Given the description of an element on the screen output the (x, y) to click on. 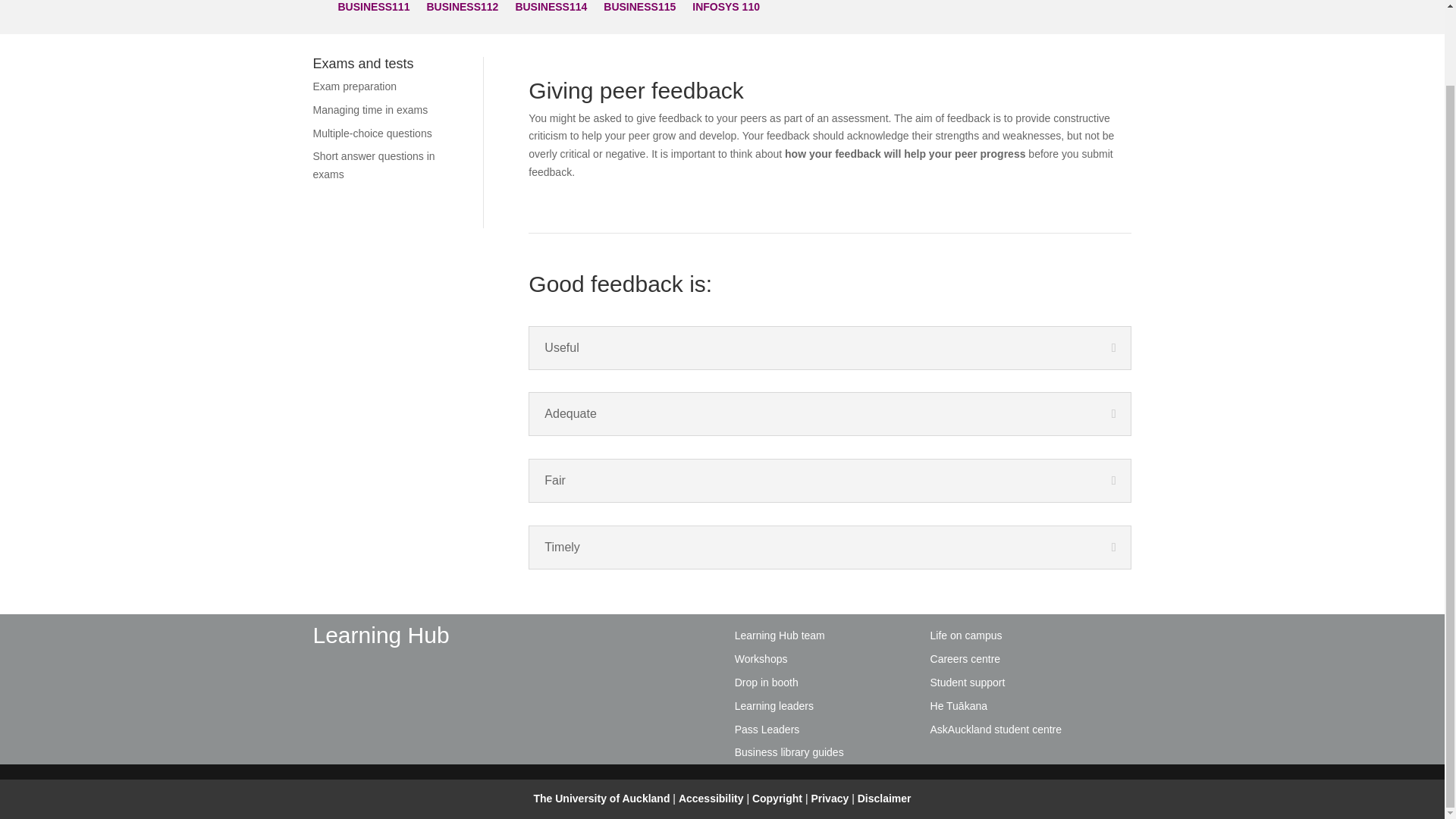
Careers centre (965, 658)
Life on campus (966, 635)
Student Support (968, 682)
AskAuckland student centre (996, 729)
